Given the description of an element on the screen output the (x, y) to click on. 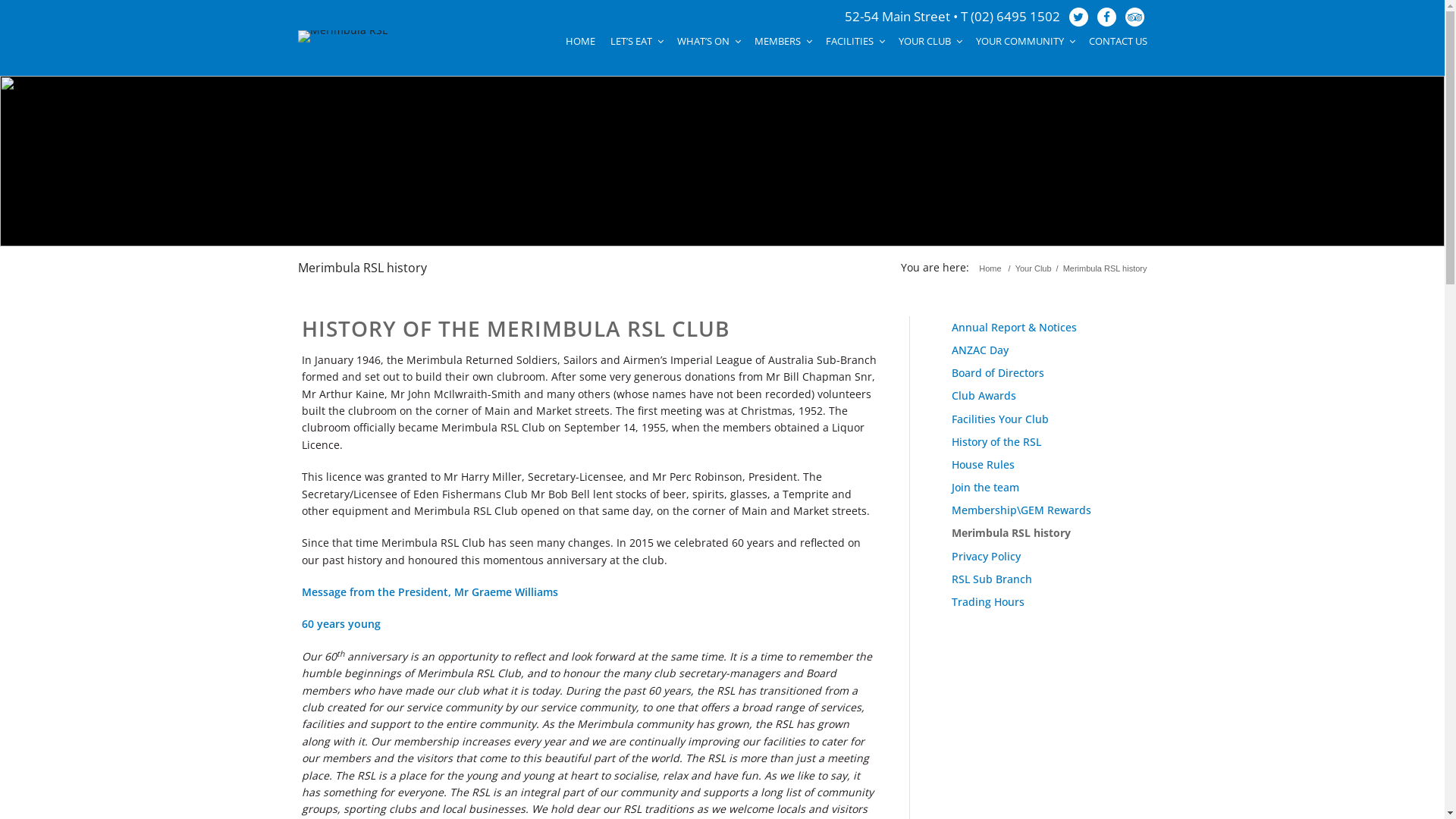
CONTACT US Element type: text (1114, 40)
Merimbula RSL history Element type: text (1010, 532)
ANZAC Day Element type: text (979, 349)
History of the RSL Element type: text (996, 441)
FACILITIES Element type: text (853, 40)
Trading Hours Element type: text (987, 601)
Annual Report & Notices Element type: text (1013, 327)
Privacy Policy Element type: text (985, 556)
Membership\GEM Rewards Element type: text (1021, 509)
RSL Sub Branch Element type: text (991, 578)
YOUR COMMUNITY Element type: text (1024, 40)
Merimbula RSL history Element type: text (361, 267)
House Rules Element type: text (982, 464)
Facilities Your Club Element type: text (999, 418)
HOME Element type: text (580, 40)
Board of Directors Element type: text (997, 372)
Home Element type: text (990, 268)
MEMBERS Element type: text (781, 40)
Club Awards Element type: text (983, 395)
Your Club Element type: text (1033, 268)
Join the team Element type: text (985, 487)
YOUR CLUB Element type: text (928, 40)
